Given the description of an element on the screen output the (x, y) to click on. 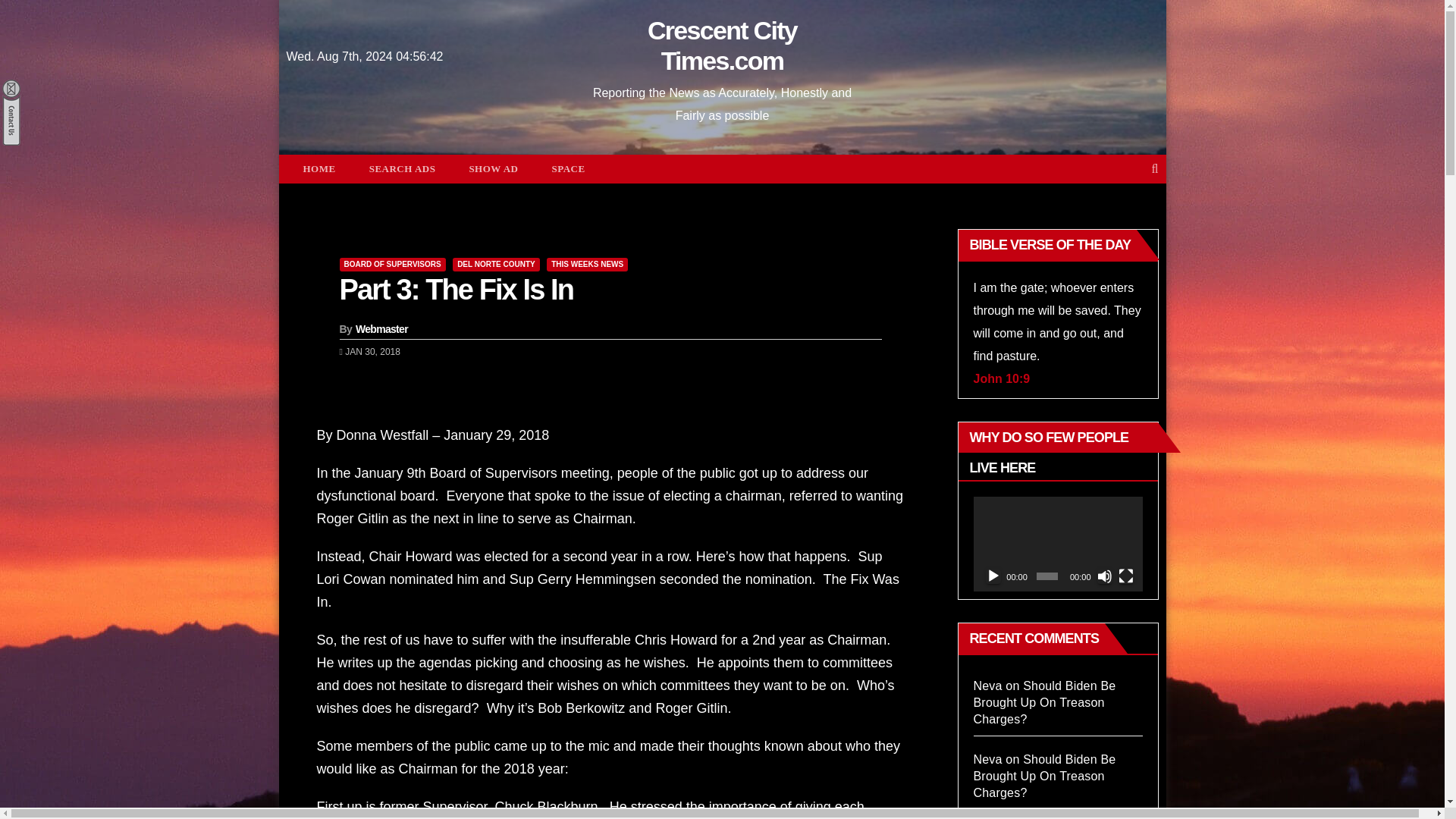
SPACE (567, 168)
Part 3: The Fix Is In (456, 289)
Webmaster (381, 328)
HOME (319, 168)
THIS WEEKS NEWS (587, 264)
SEARCH ADS (402, 168)
Permalink to: Part 3:  The Fix Is In (456, 289)
Home (319, 168)
Crescent City Times.com (721, 45)
SHOW AD (492, 168)
DEL NORTE COUNTY (496, 264)
BOARD OF SUPERVISORS (392, 264)
